Given the description of an element on the screen output the (x, y) to click on. 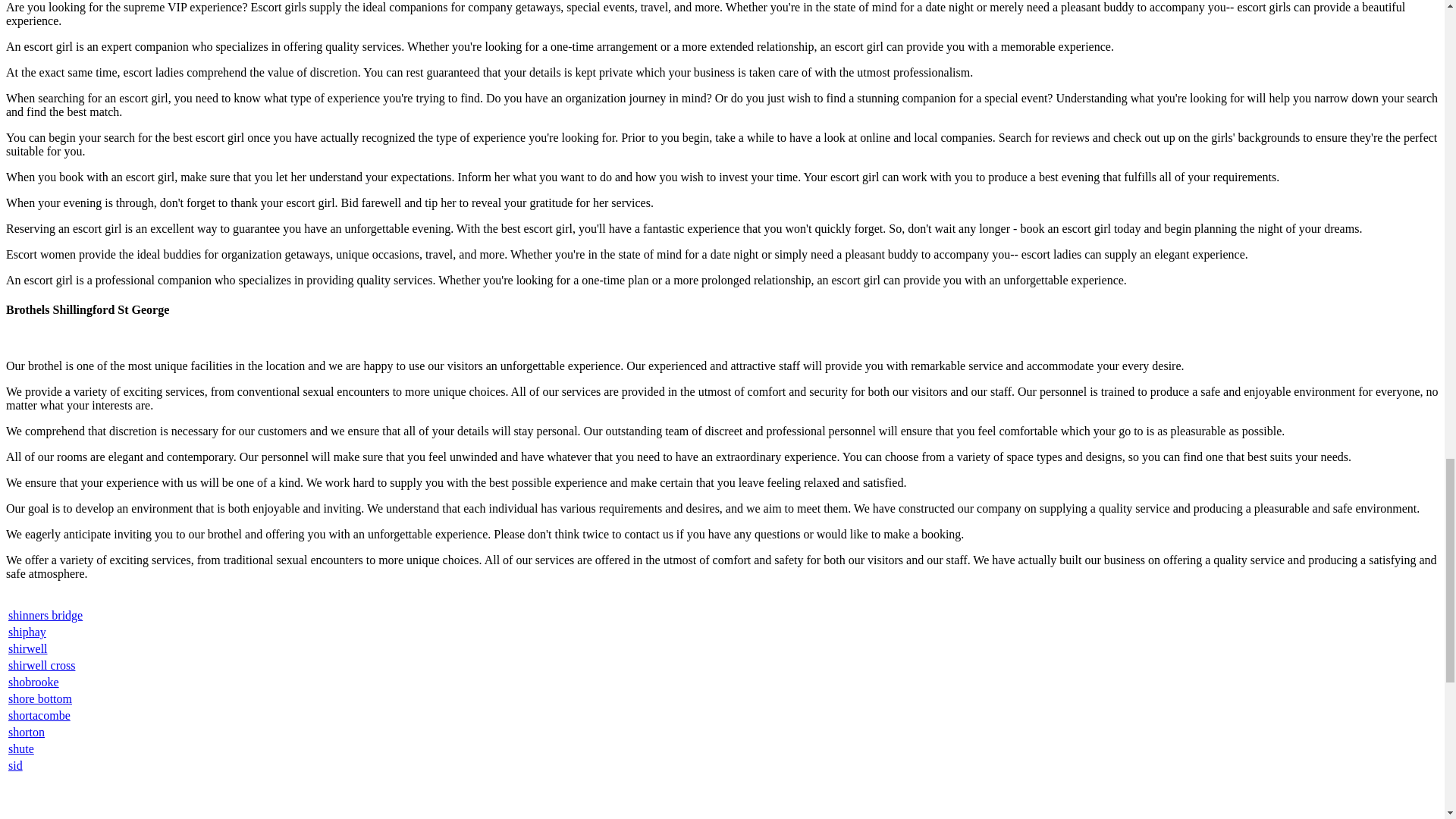
sid (15, 765)
shinners bridge (45, 615)
shore bottom (39, 698)
shirwell cross (41, 665)
shobrooke (33, 681)
shiphay (27, 631)
shortacombe (38, 715)
shirwell (28, 648)
shorton (26, 731)
shute (20, 748)
